Given the description of an element on the screen output the (x, y) to click on. 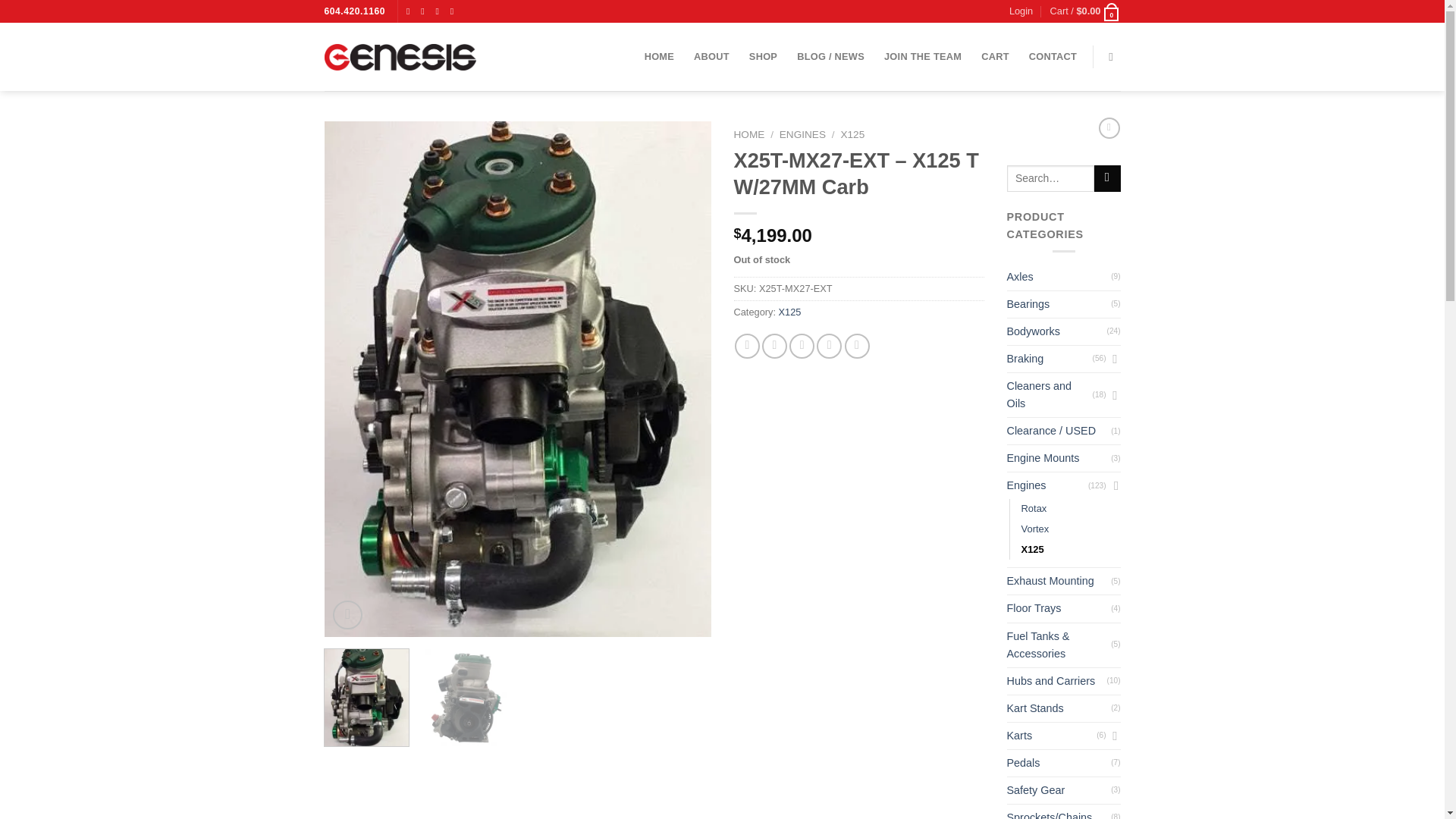
Genesis Racing - Professional Karting Specialists (400, 56)
SHOP (763, 56)
ENGINES (801, 134)
Share on Facebook (747, 345)
JOIN THE TEAM (921, 56)
CONTACT (1053, 56)
HOME (659, 56)
Cart (1085, 11)
CART (995, 56)
ABOUT (711, 56)
